Given the description of an element on the screen output the (x, y) to click on. 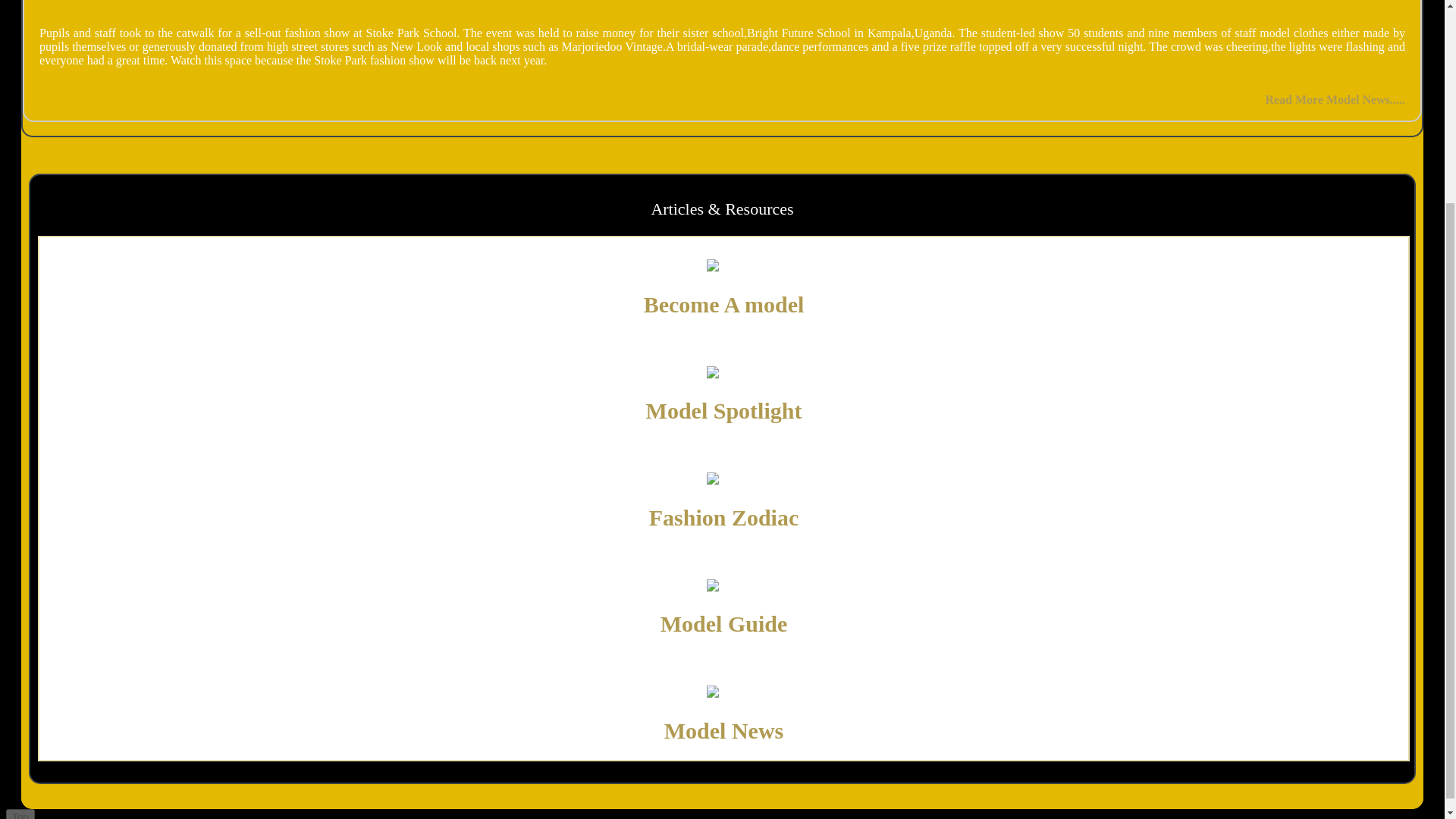
Man (723, 585)
Man (723, 479)
Man (723, 373)
Model Spotlight (724, 410)
Model News (723, 730)
Man (723, 692)
Read More Model News..... (1335, 99)
Model Guide (724, 623)
Fashion Zodiac (724, 517)
Man (723, 265)
Become A model (724, 303)
